Given the description of an element on the screen output the (x, y) to click on. 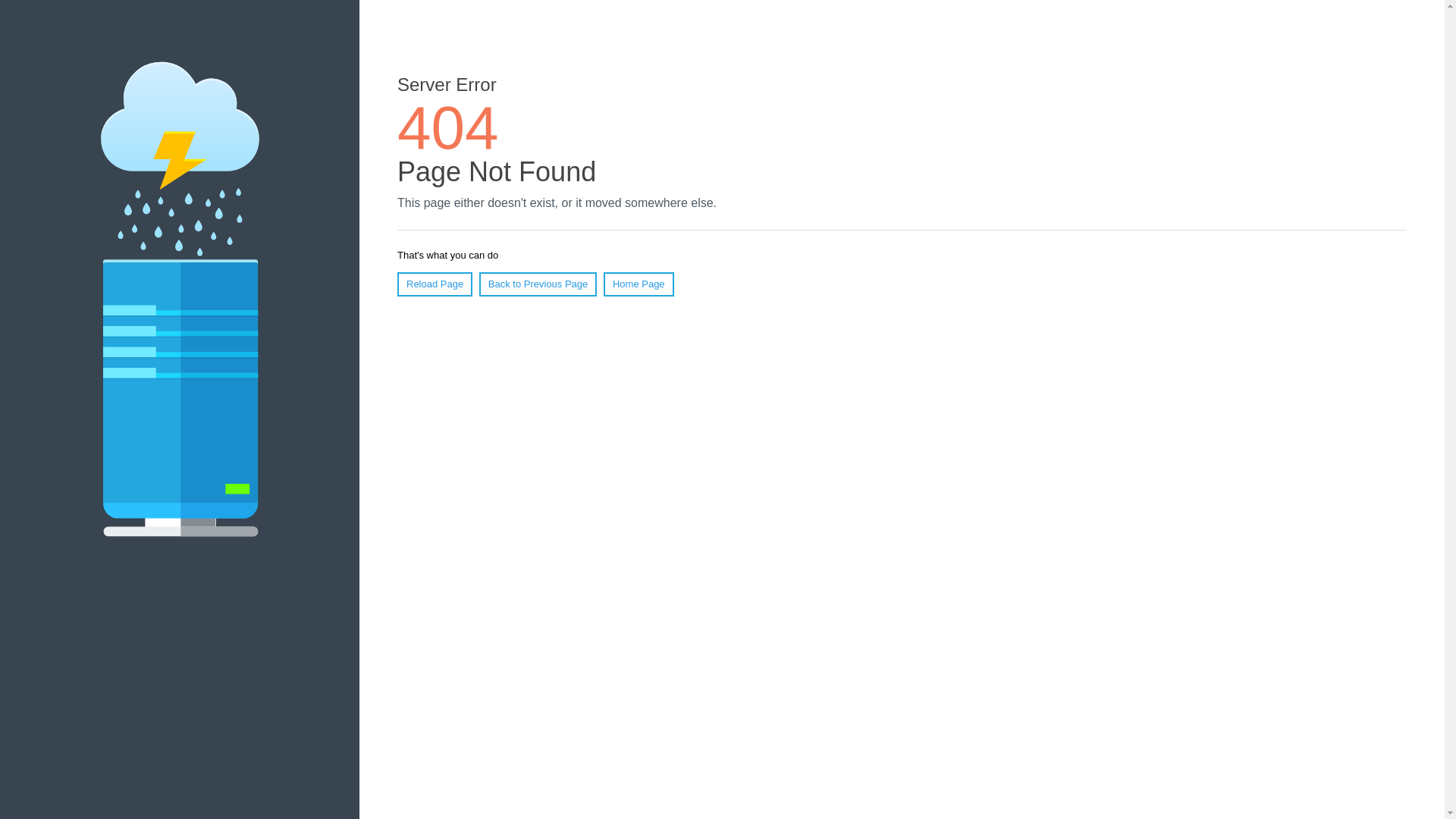
Back to Previous Page Element type: text (538, 284)
Reload Page Element type: text (434, 284)
Home Page Element type: text (638, 284)
